Given the description of an element on the screen output the (x, y) to click on. 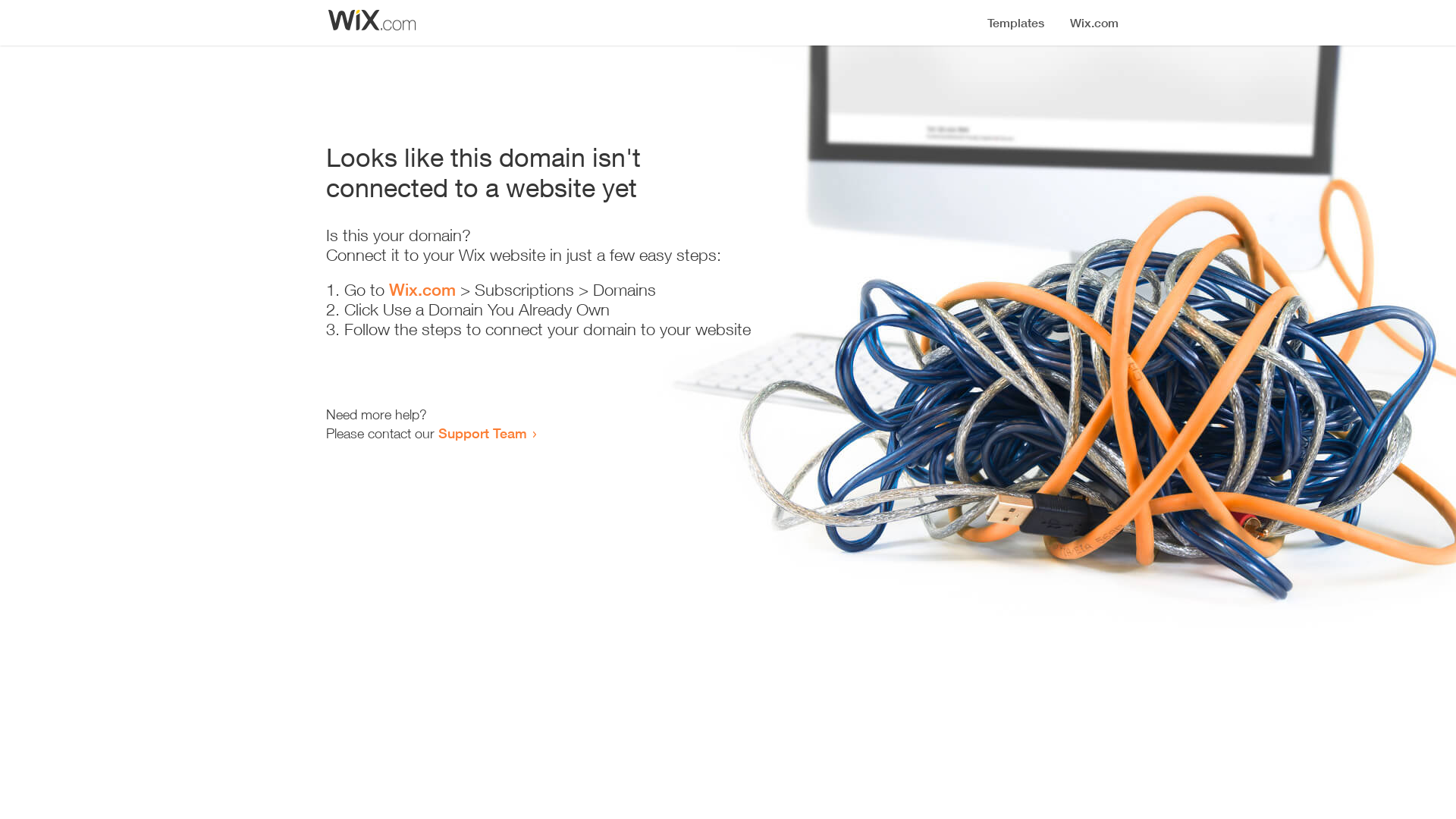
Support Team Element type: text (482, 432)
Wix.com Element type: text (422, 289)
